Given the description of an element on the screen output the (x, y) to click on. 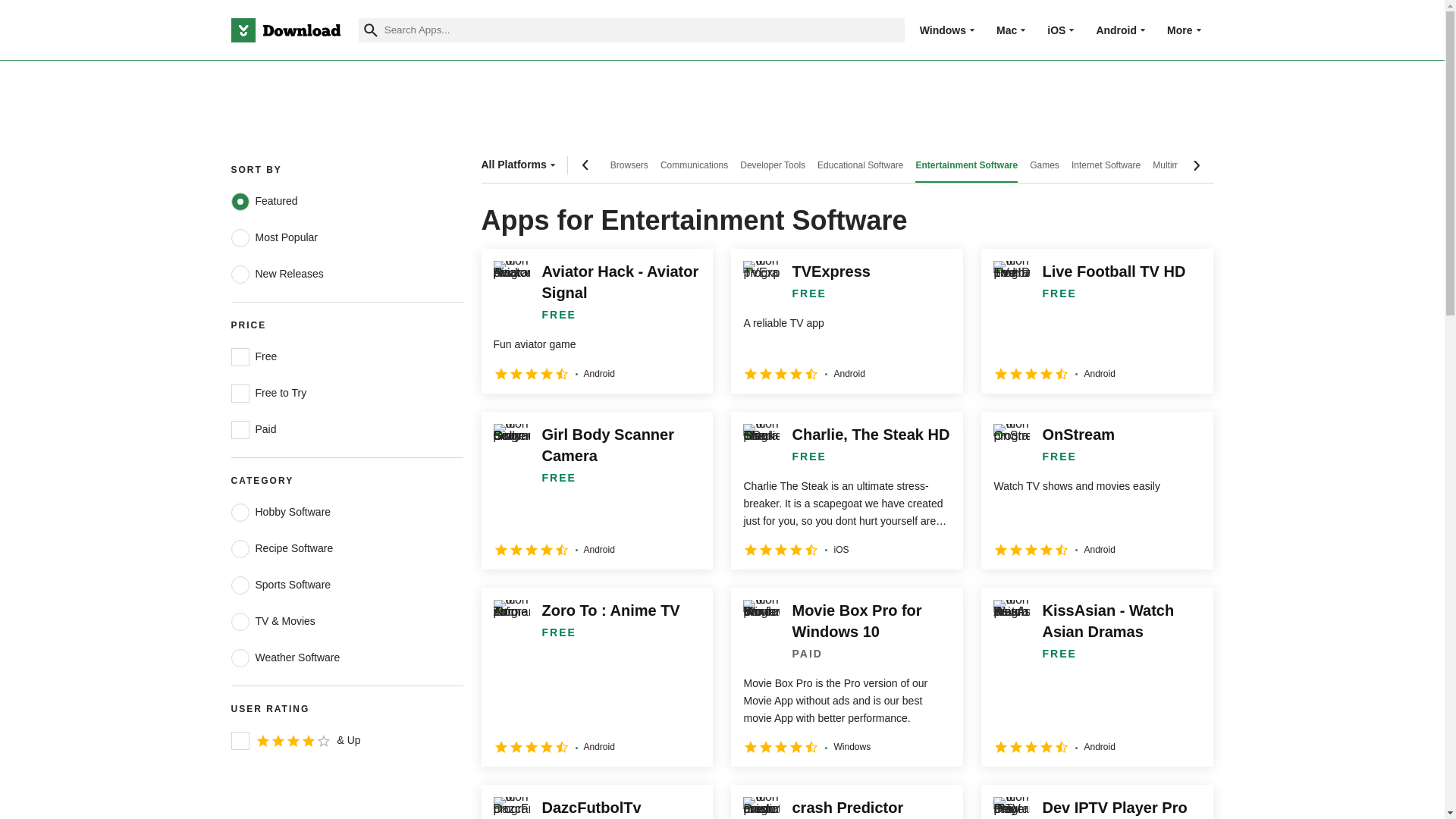
crash Predictor aviator (846, 801)
free (239, 357)
Windows (943, 29)
entertainment-tv-movies (239, 621)
home-food-cooking (239, 548)
freeToTry (239, 393)
Live Football TV HD (1096, 320)
4up (239, 741)
Aviator Hack - Aviator Signal (596, 320)
KissAsian - Watch Asian Dramas (1096, 677)
